Given the description of an element on the screen output the (x, y) to click on. 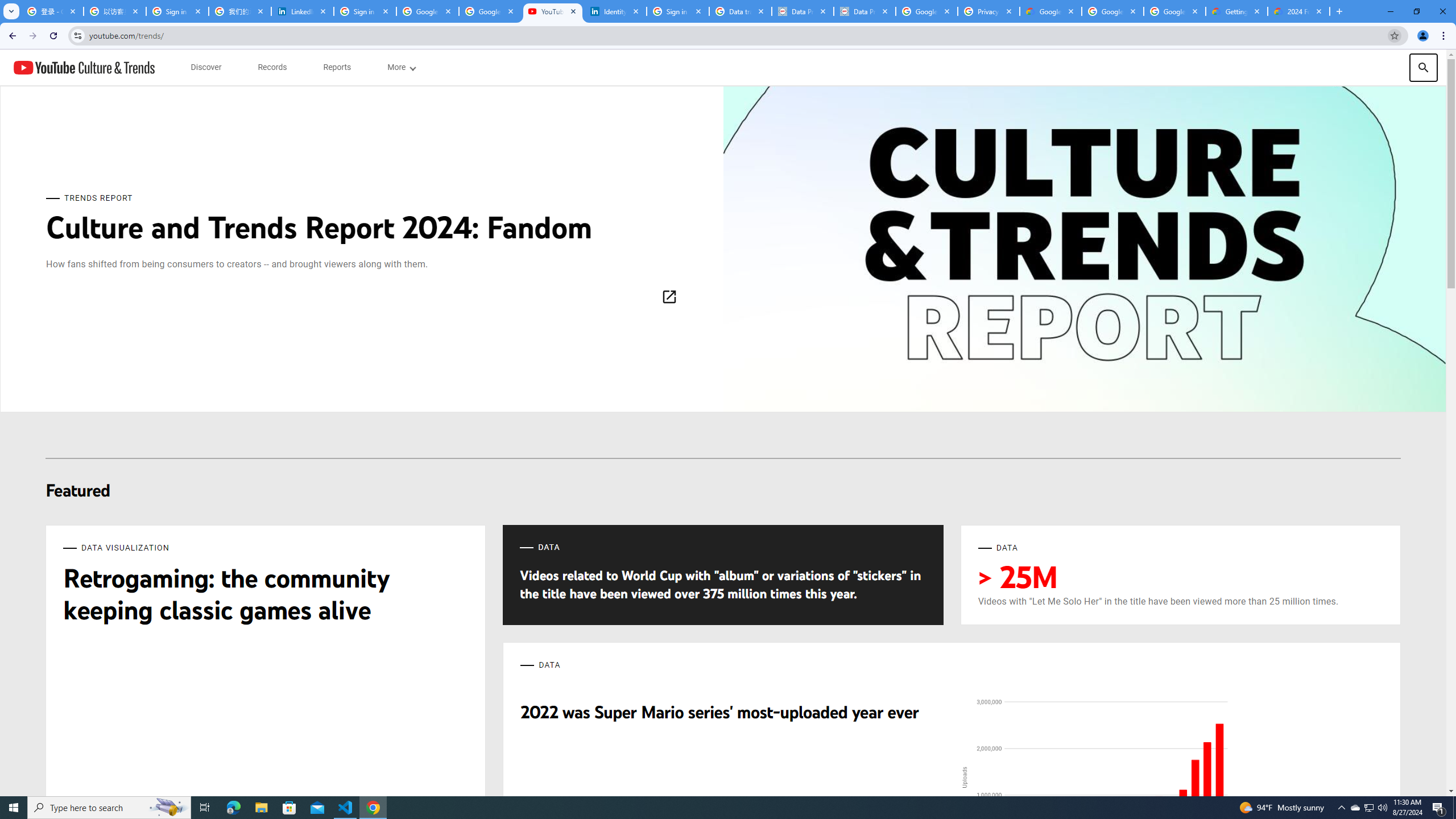
Data Privacy Framework (802, 11)
Google Cloud Terms Directory | Google Cloud (1050, 11)
subnav-Discover menupopup (205, 67)
subnav-Discover menupopup (205, 67)
